Given the description of an element on the screen output the (x, y) to click on. 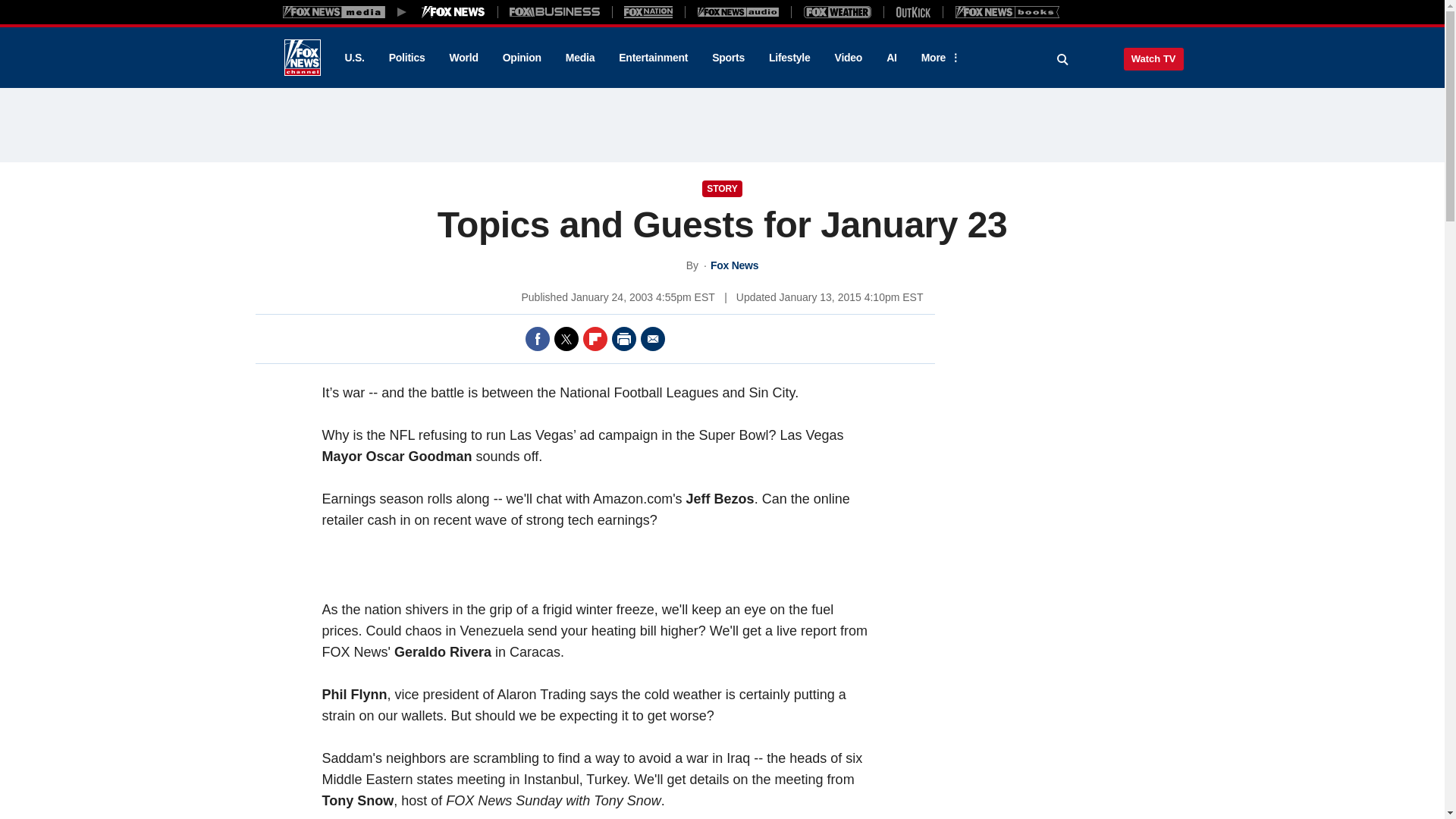
Opinion (521, 57)
More (938, 57)
Politics (407, 57)
Fox Nation (648, 11)
Entertainment (653, 57)
Fox News (301, 57)
Fox Weather (836, 11)
World (464, 57)
U.S. (353, 57)
Books (1007, 11)
Fox Business (554, 11)
Outkick (912, 11)
Media (580, 57)
Lifestyle (789, 57)
Sports (728, 57)
